Given the description of an element on the screen output the (x, y) to click on. 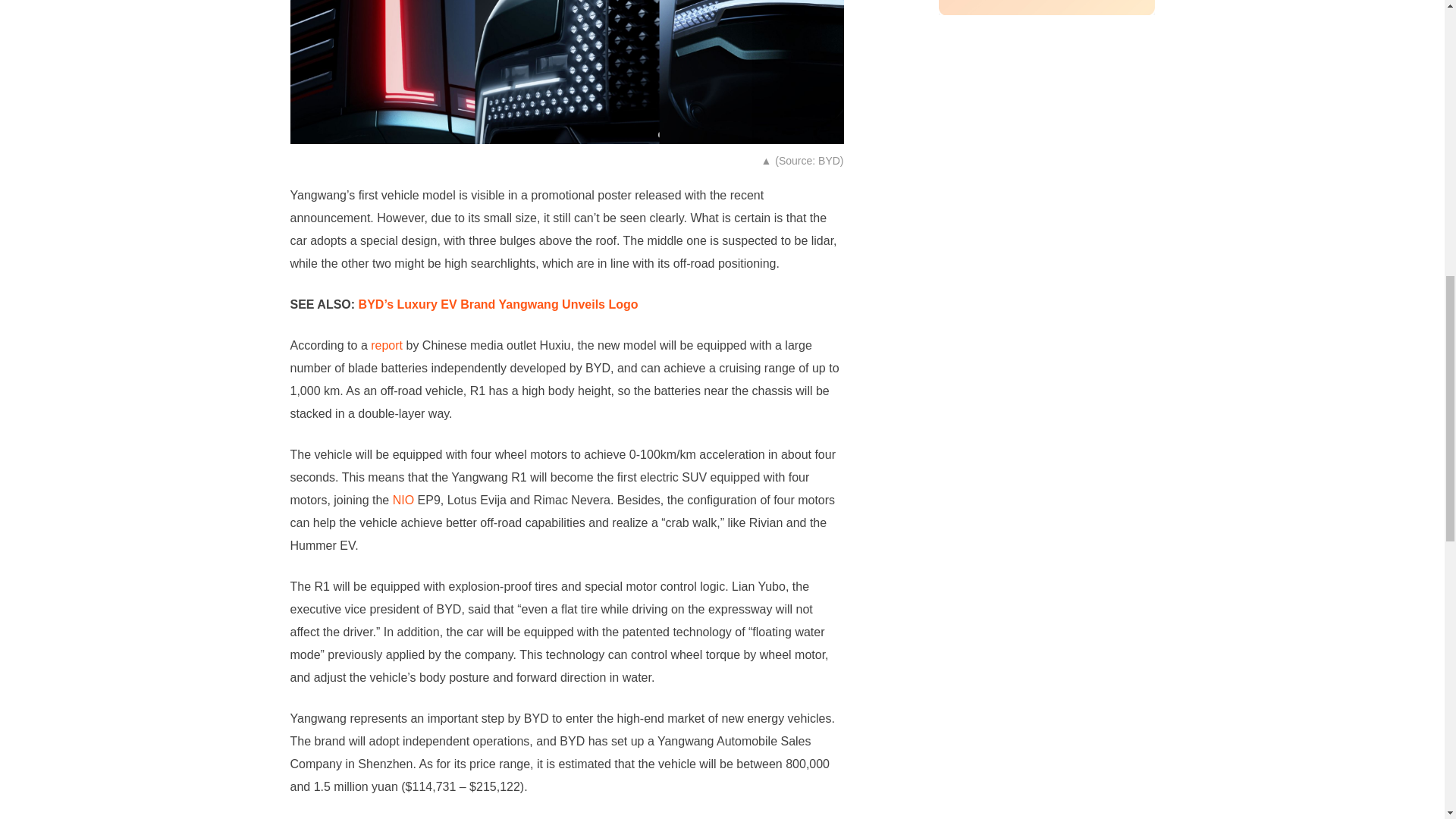
report (387, 345)
